Given the description of an element on the screen output the (x, y) to click on. 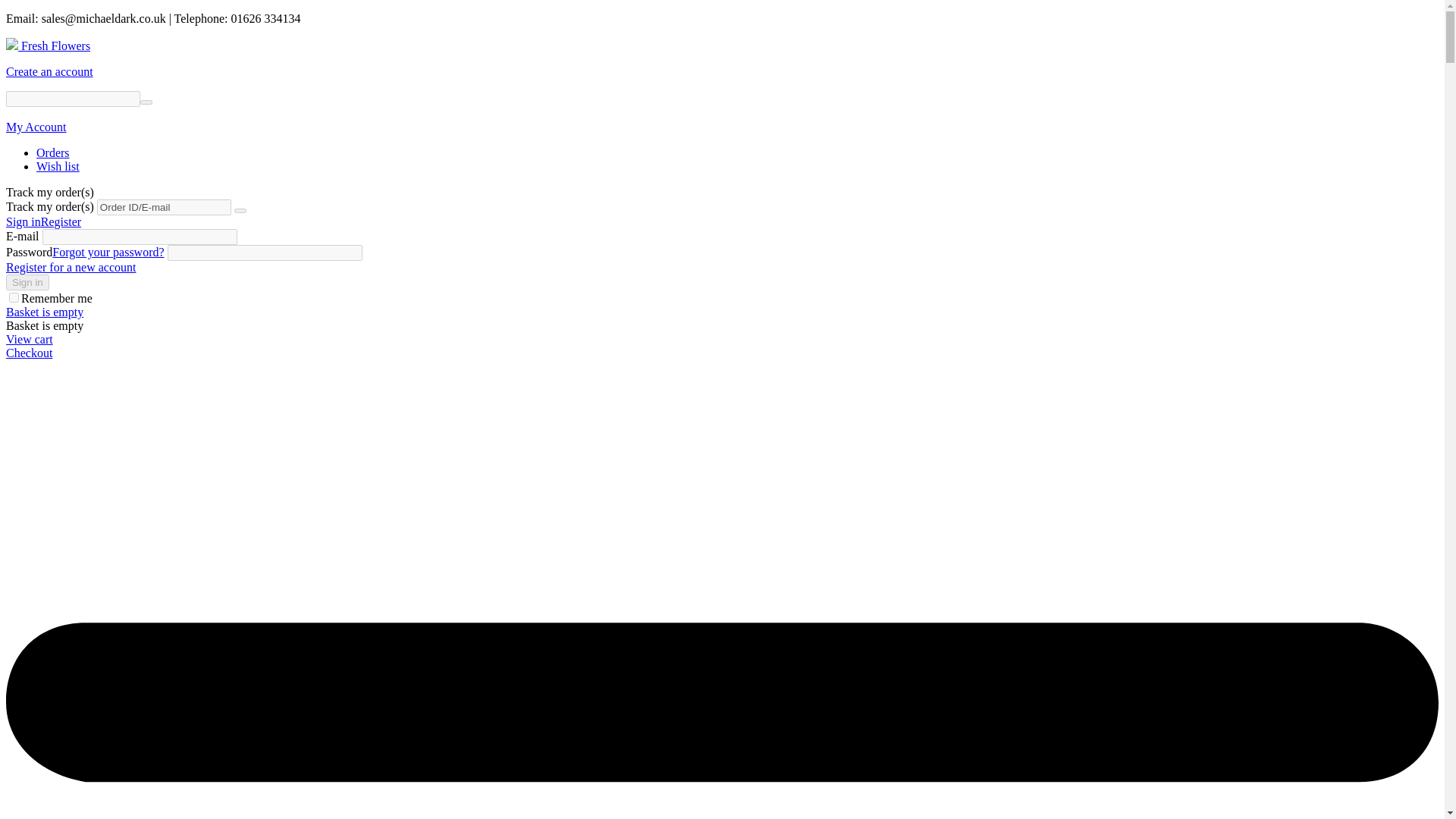
Go (240, 210)
Search (145, 101)
Create an account (49, 71)
View cart (28, 338)
Sign in (22, 221)
Forgot your password? (107, 251)
Checkout (28, 352)
 Fresh Flowers (47, 45)
Basket is empty (43, 311)
Sign in (27, 282)
